Given the description of an element on the screen output the (x, y) to click on. 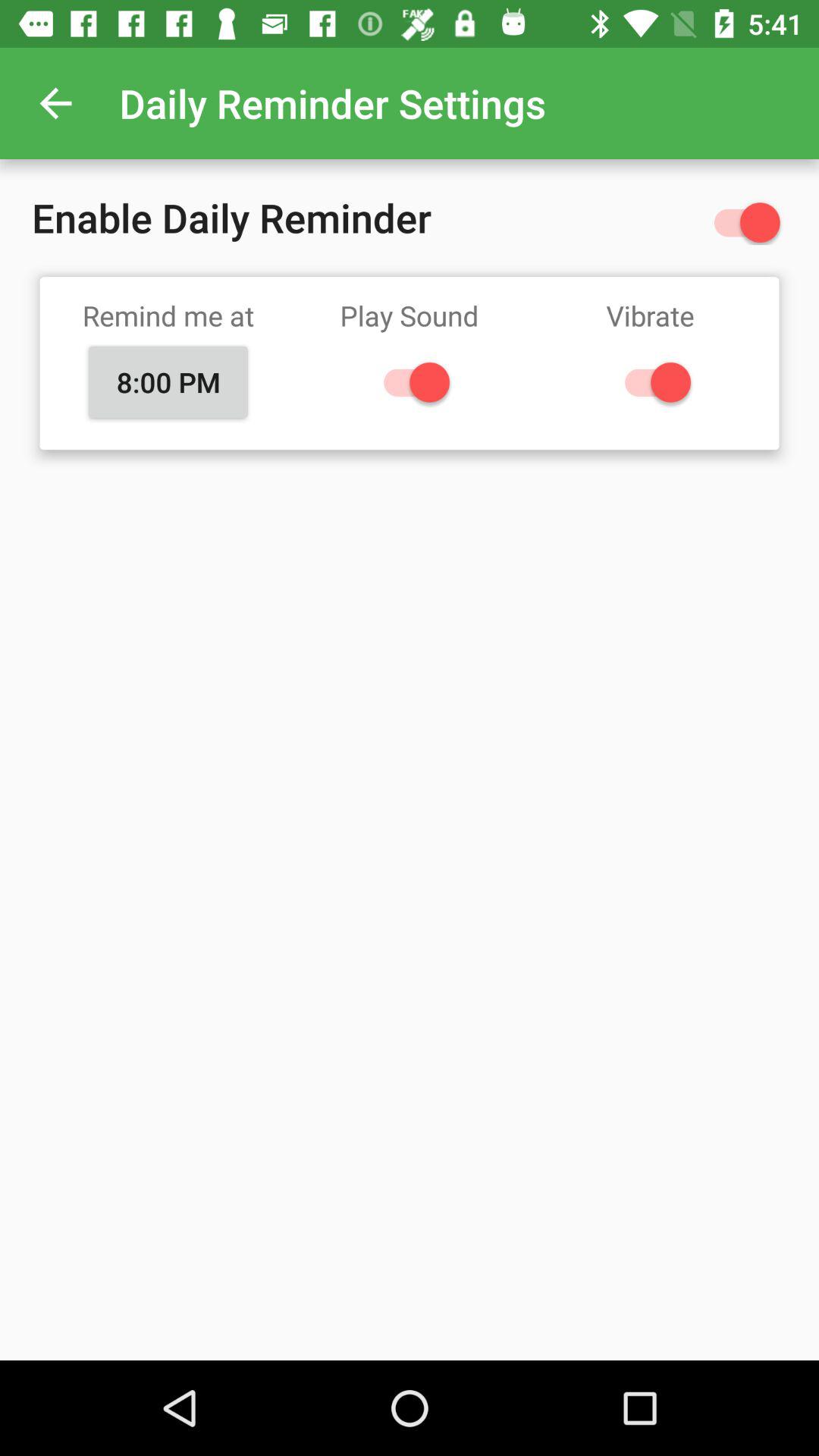
launch the icon to the left of the play sound icon (167, 381)
